Given the description of an element on the screen output the (x, y) to click on. 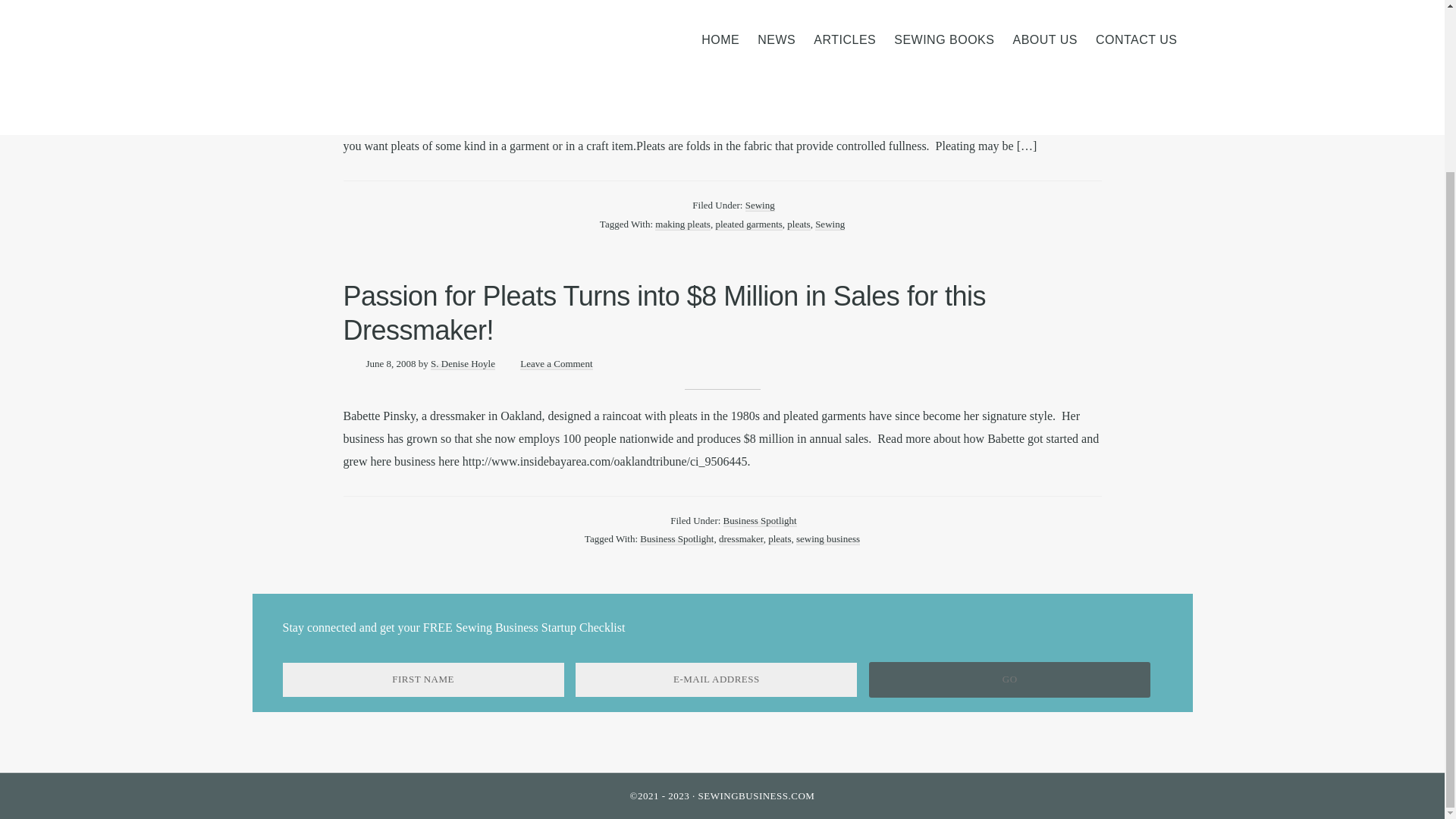
sewing business (828, 539)
pleated garments (747, 224)
How To Make Pleats (462, 38)
Leave a Comment (576, 71)
making pleats (682, 224)
Sewing (829, 224)
Sarah J. Doyle (486, 71)
Leave a Comment (555, 363)
Go (1009, 679)
Go (1009, 679)
